Given the description of an element on the screen output the (x, y) to click on. 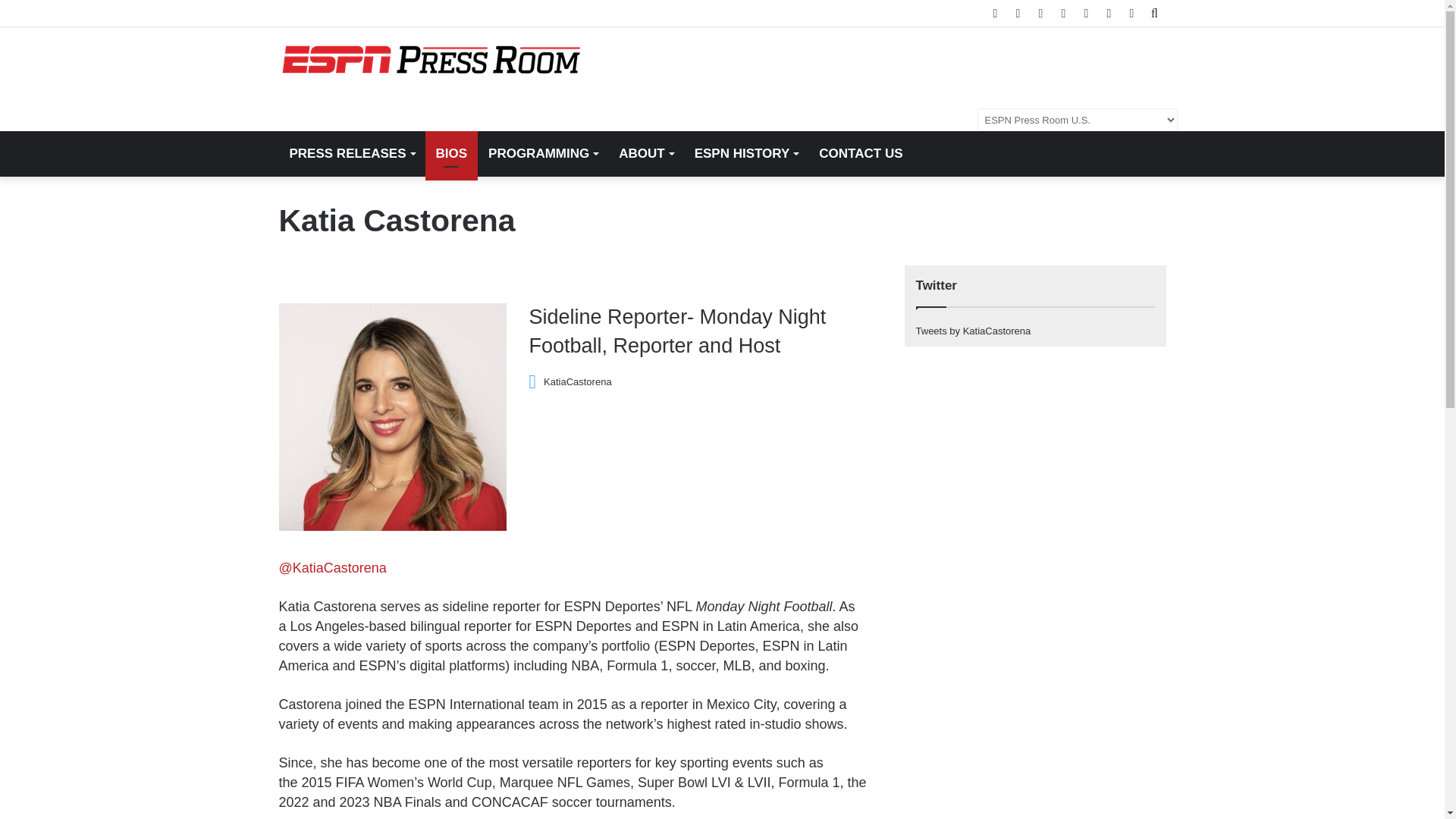
BIOS (451, 153)
KatiaCastorena (570, 380)
PRESS RELEASES (352, 153)
ESPN Press Room U.S. (430, 59)
ABOUT (645, 153)
ESPN HISTORY (746, 153)
PROGRAMMING (542, 153)
CONTACT US (860, 153)
Tweets by KatiaCastorena (972, 330)
